Given the description of an element on the screen output the (x, y) to click on. 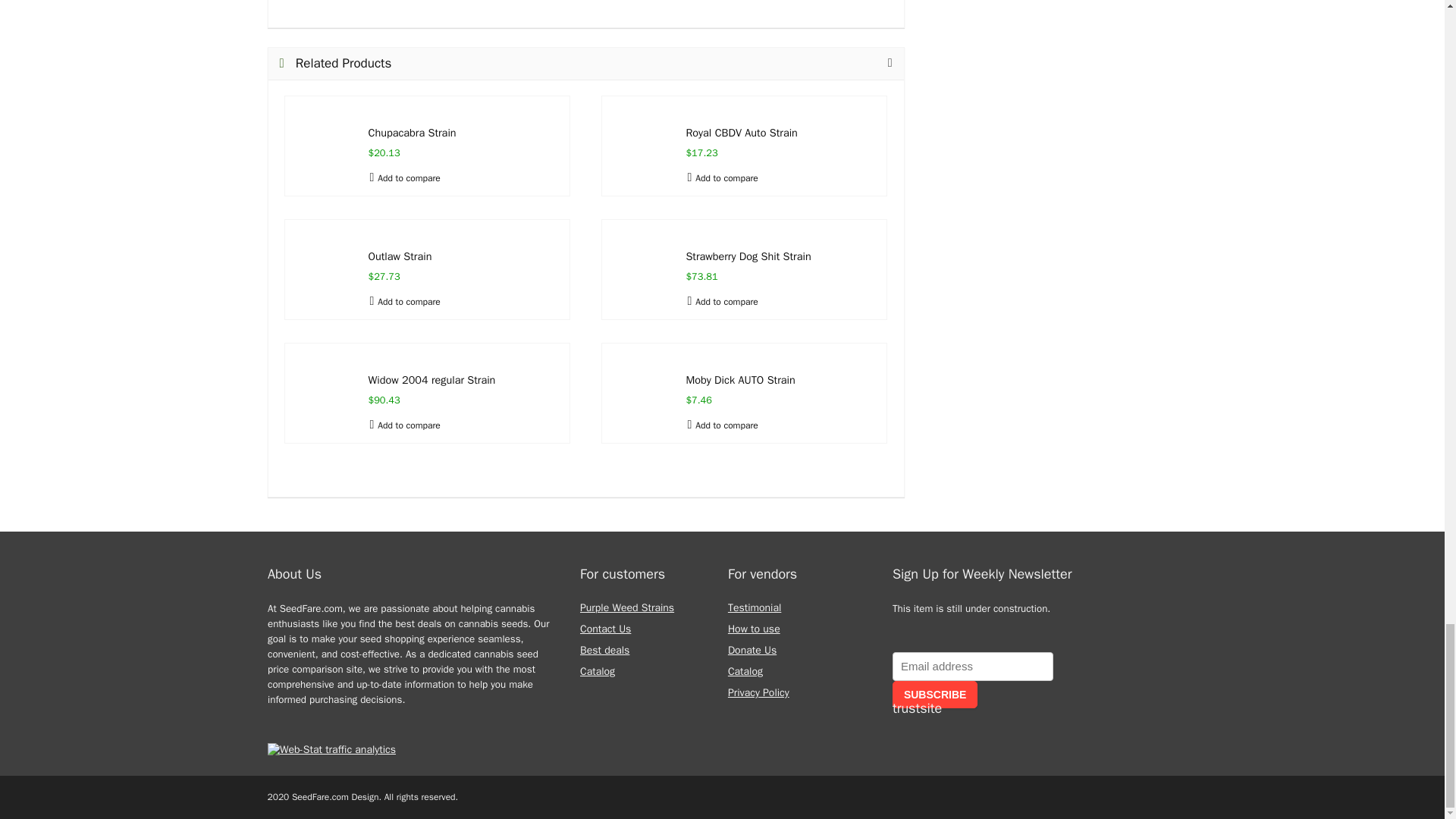
Subscribe (934, 694)
